Given the description of an element on the screen output the (x, y) to click on. 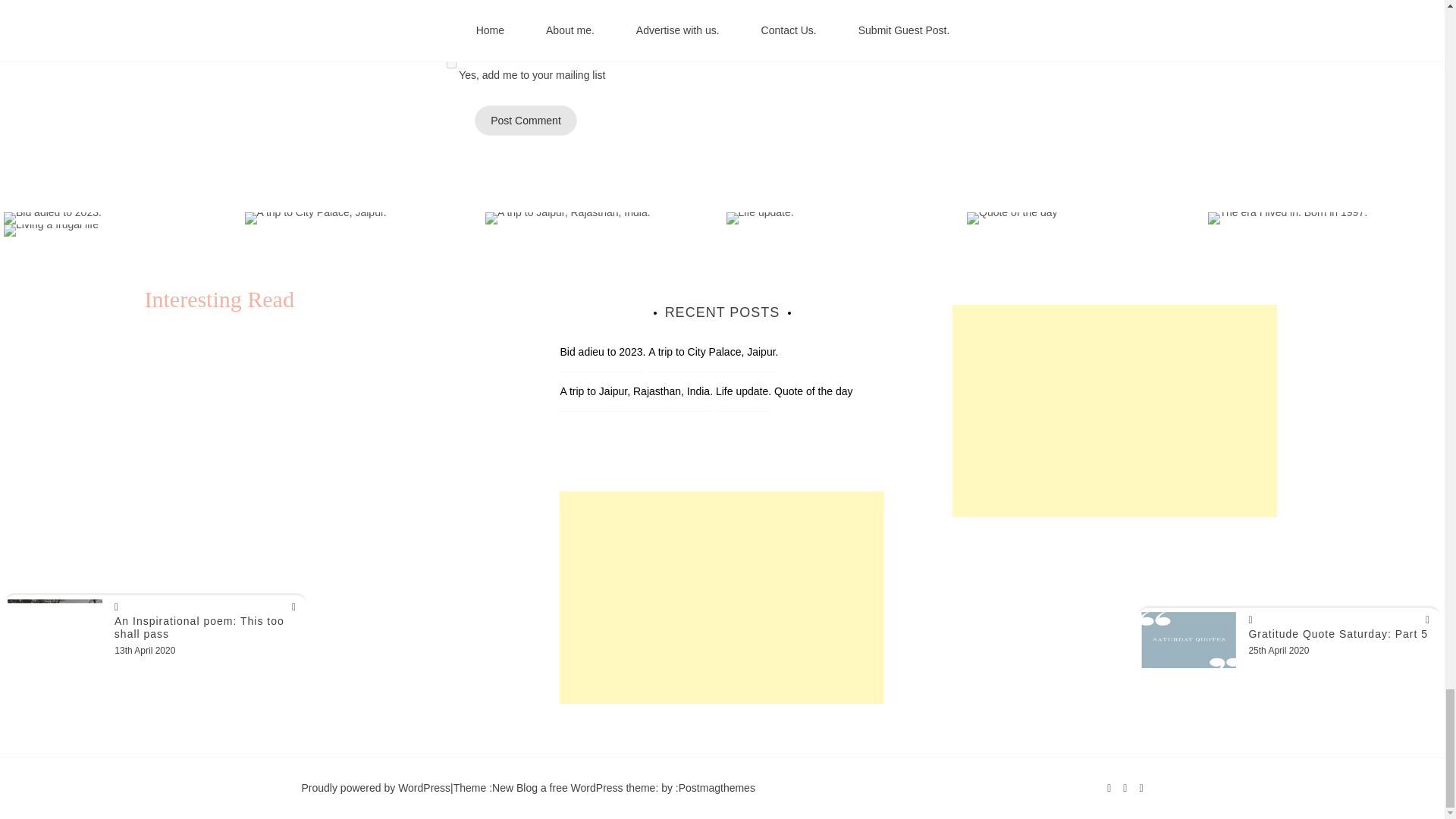
Post Comment (525, 120)
